Given the description of an element on the screen output the (x, y) to click on. 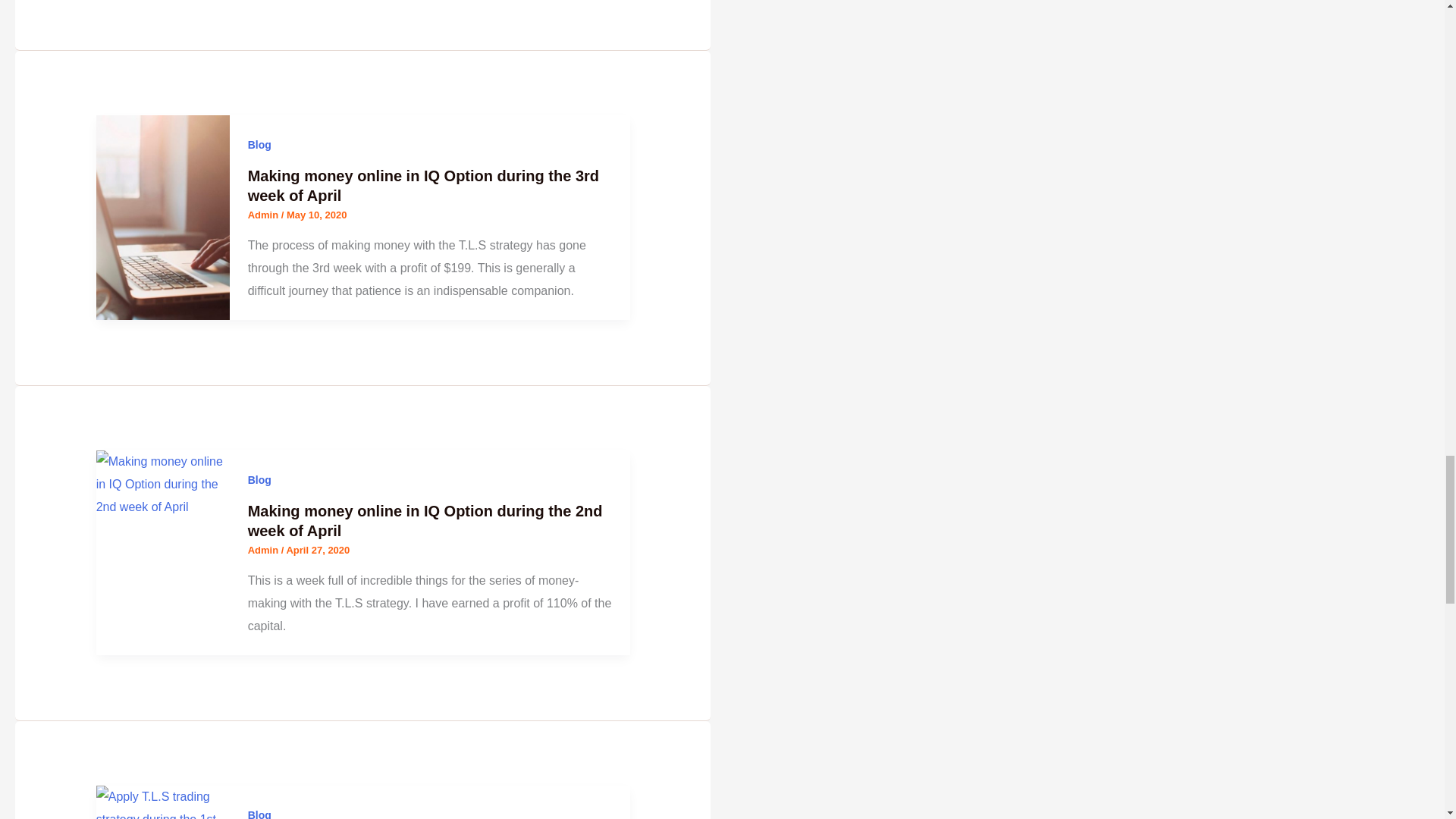
View all posts by Admin (264, 550)
View all posts by Admin (264, 214)
